Given the description of an element on the screen output the (x, y) to click on. 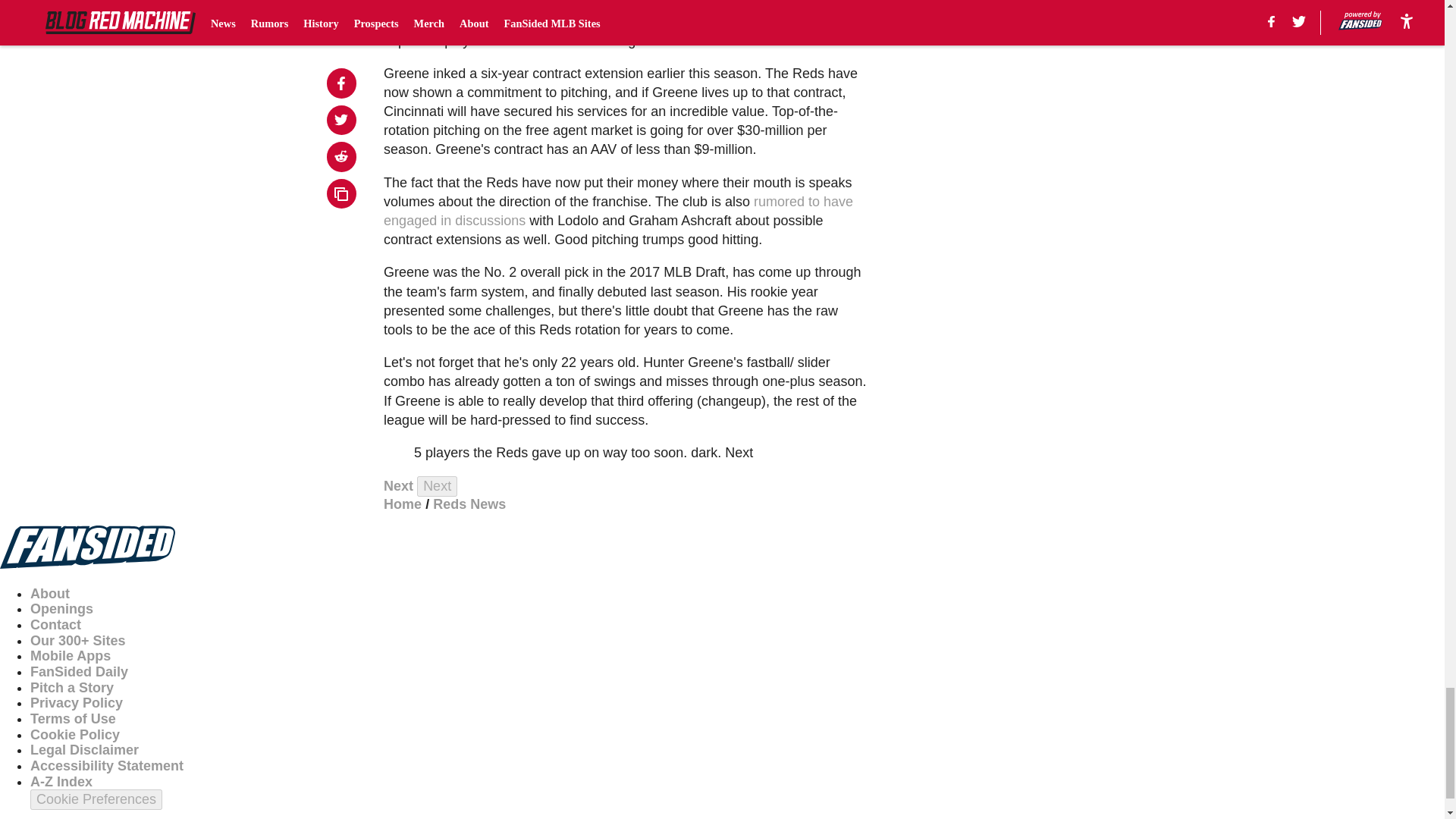
Home (403, 503)
Next (398, 485)
rumored to have engaged in discussions (618, 211)
Reds News (468, 503)
Next (436, 485)
